Given the description of an element on the screen output the (x, y) to click on. 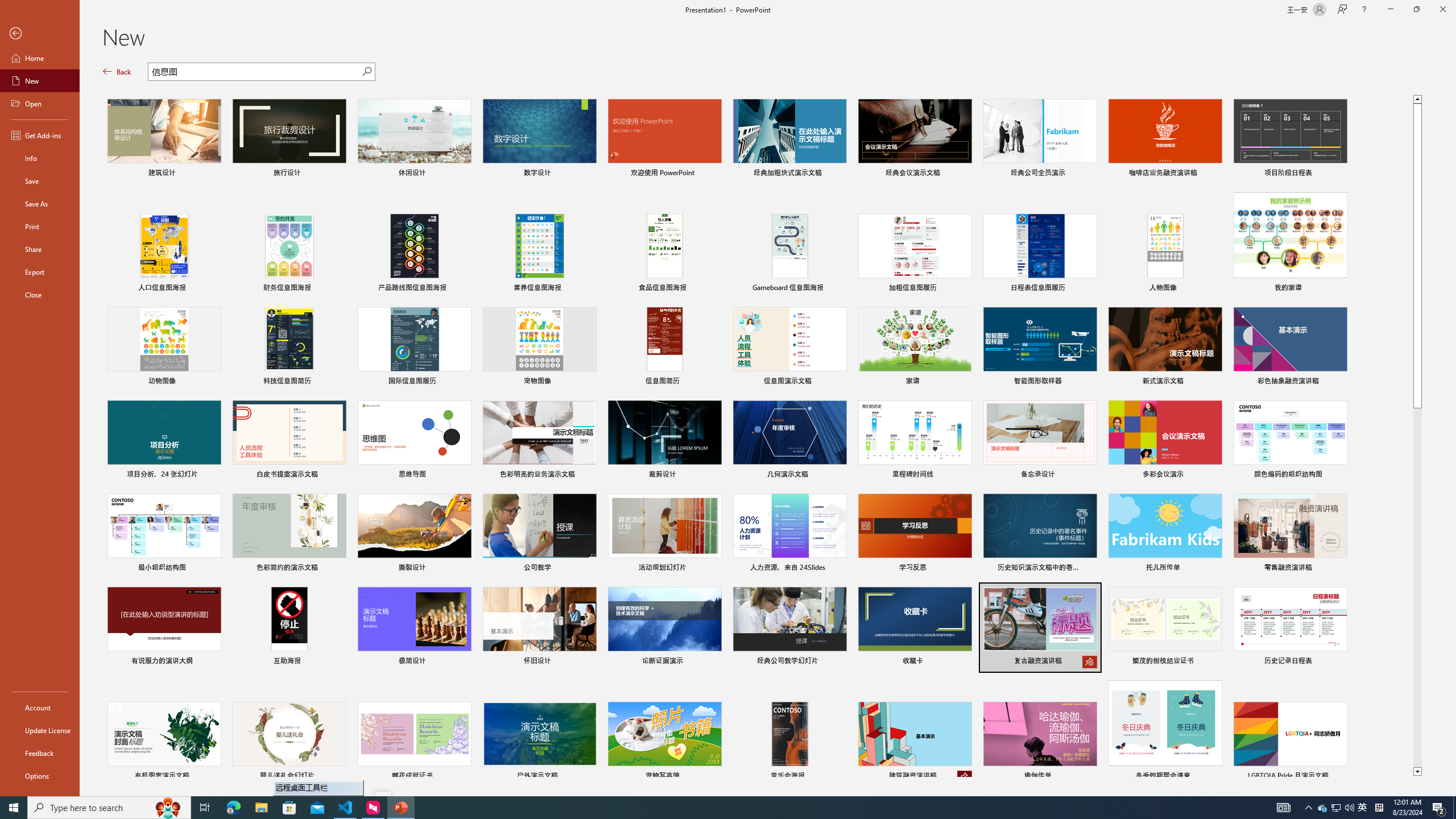
Feedback (40, 753)
Start searching (366, 71)
